Given the description of an element on the screen output the (x, y) to click on. 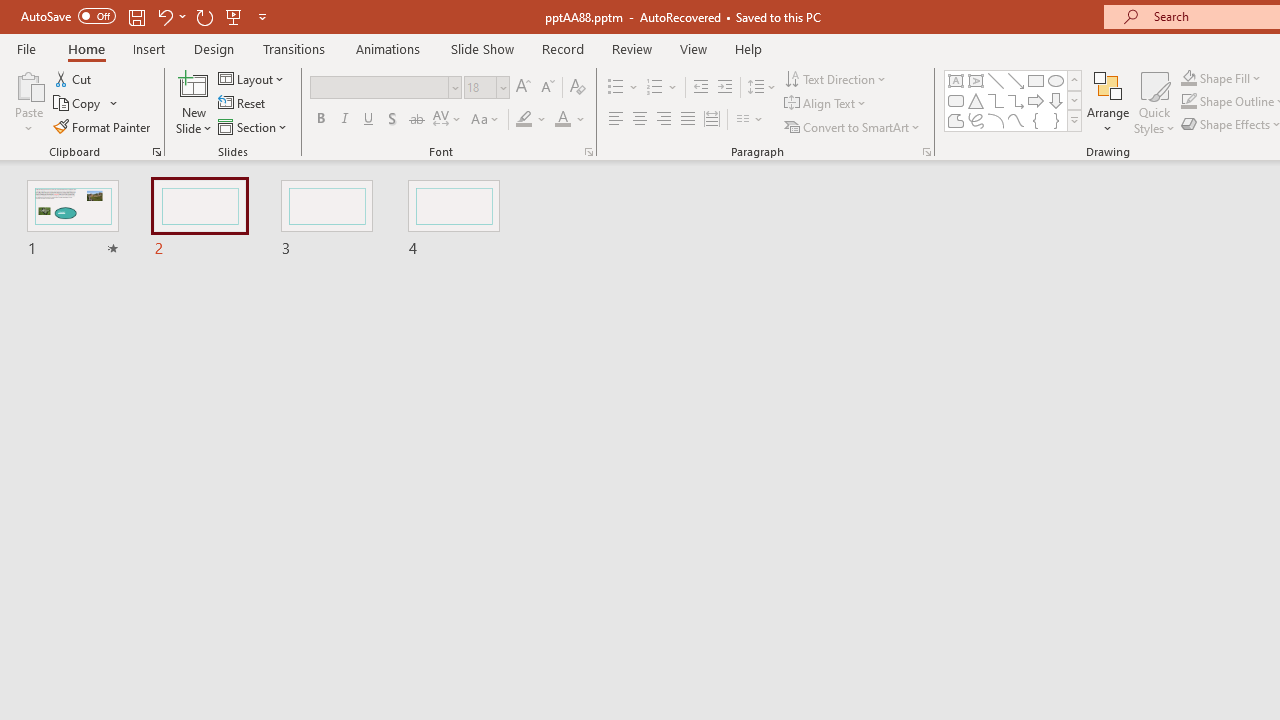
Shadow (392, 119)
Oval (1055, 80)
Arc (995, 120)
Curve (1016, 120)
Arrow: Down (1055, 100)
Convert to SmartArt (853, 126)
Connector: Elbow Arrow (1016, 100)
Align Text (826, 103)
